Given the description of an element on the screen output the (x, y) to click on. 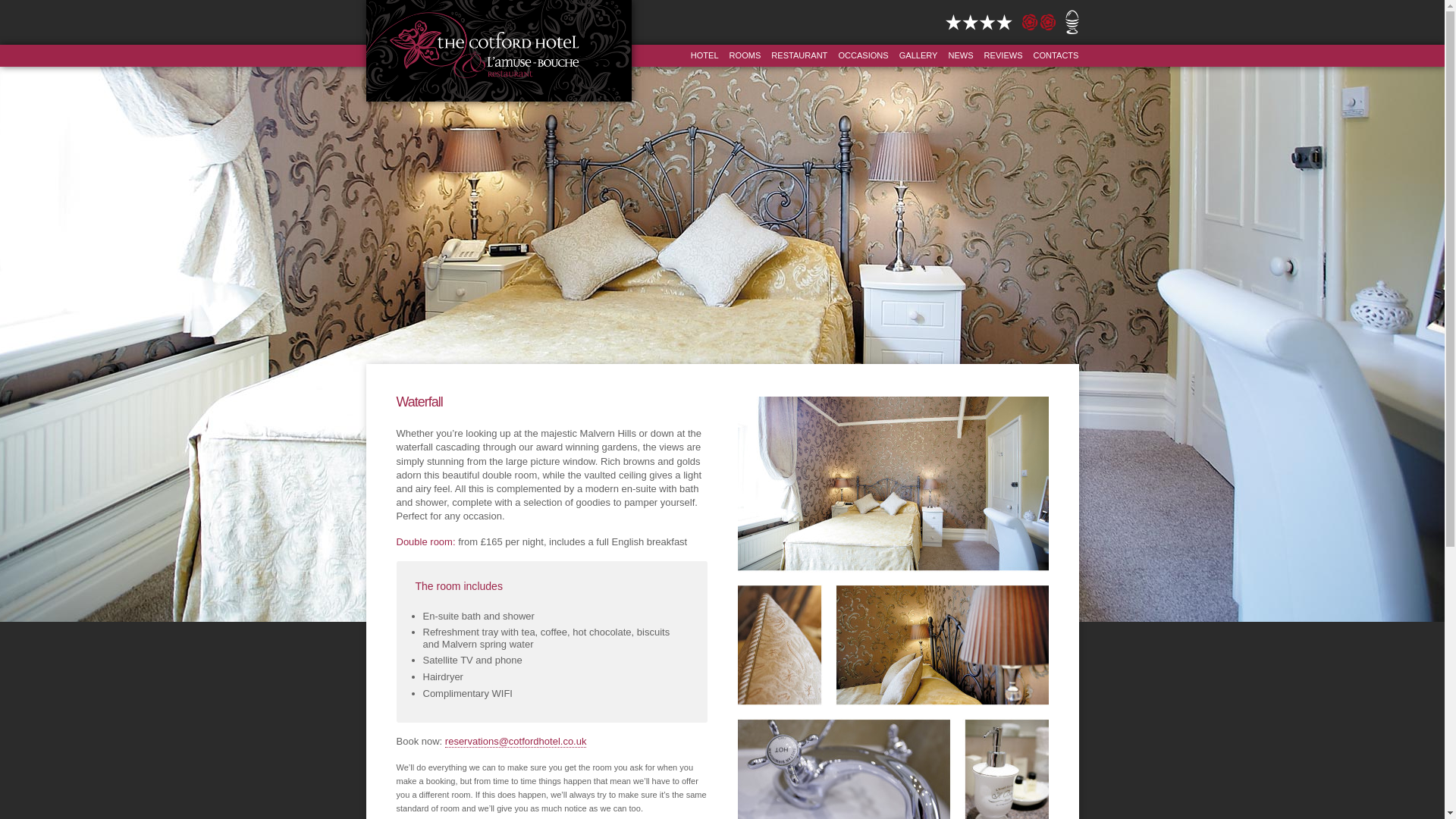
HOTEL (704, 55)
ROOMS (745, 55)
RESTAURANT (799, 55)
